Given the description of an element on the screen output the (x, y) to click on. 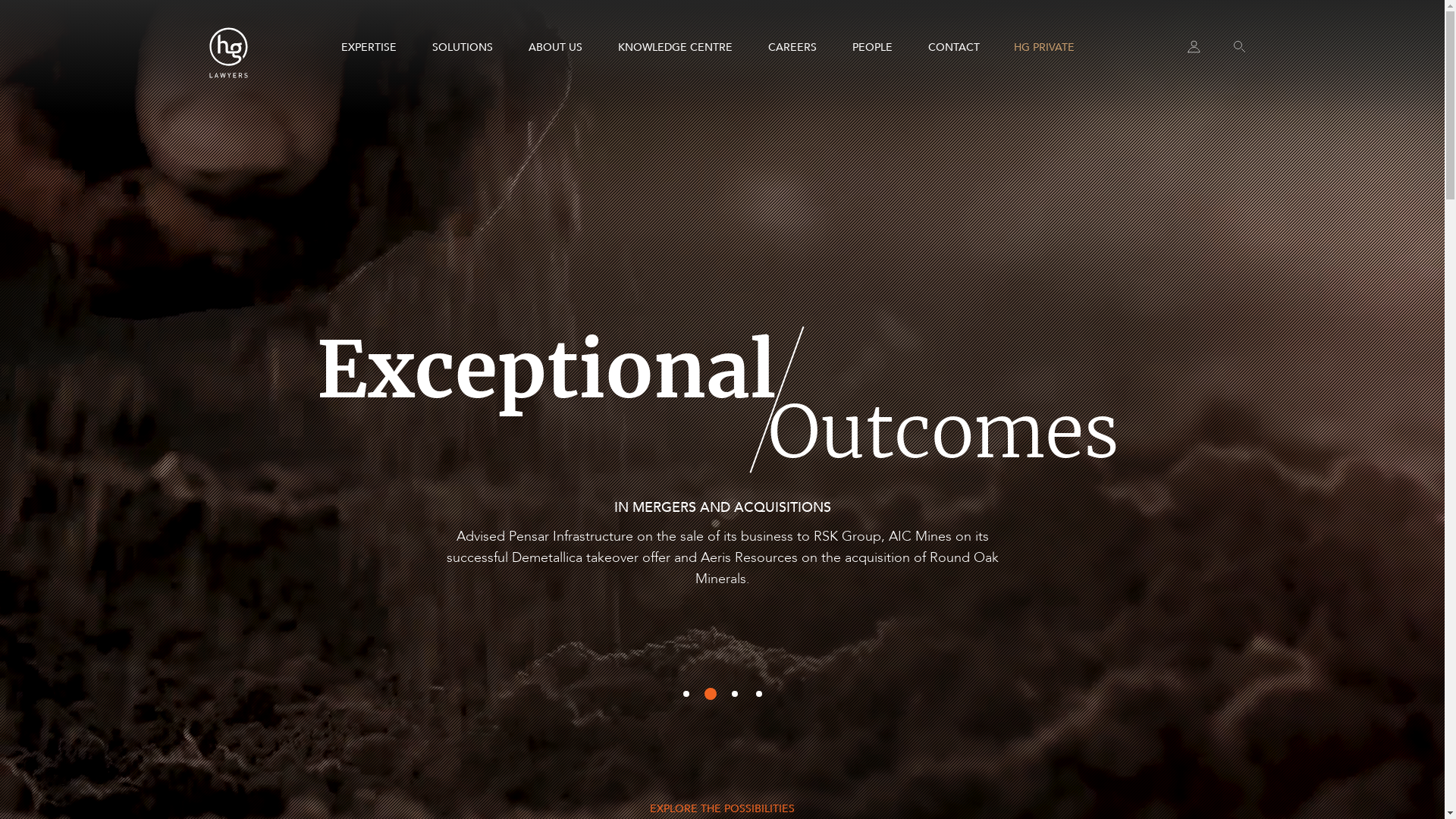
EXPLORE THE POSSIBILITIES Element type: text (721, 808)
PEOPLE Element type: text (872, 47)
CONTACT Element type: text (953, 47)
KNOWLEDGE CENTRE Element type: text (674, 47)
HG PRIVATE Element type: text (1043, 47)
EXPERTISE Element type: text (368, 47)
ABOUT US Element type: text (554, 47)
SOLUTIONS Element type: text (462, 47)
CAREERS Element type: text (791, 47)
